Given the description of an element on the screen output the (x, y) to click on. 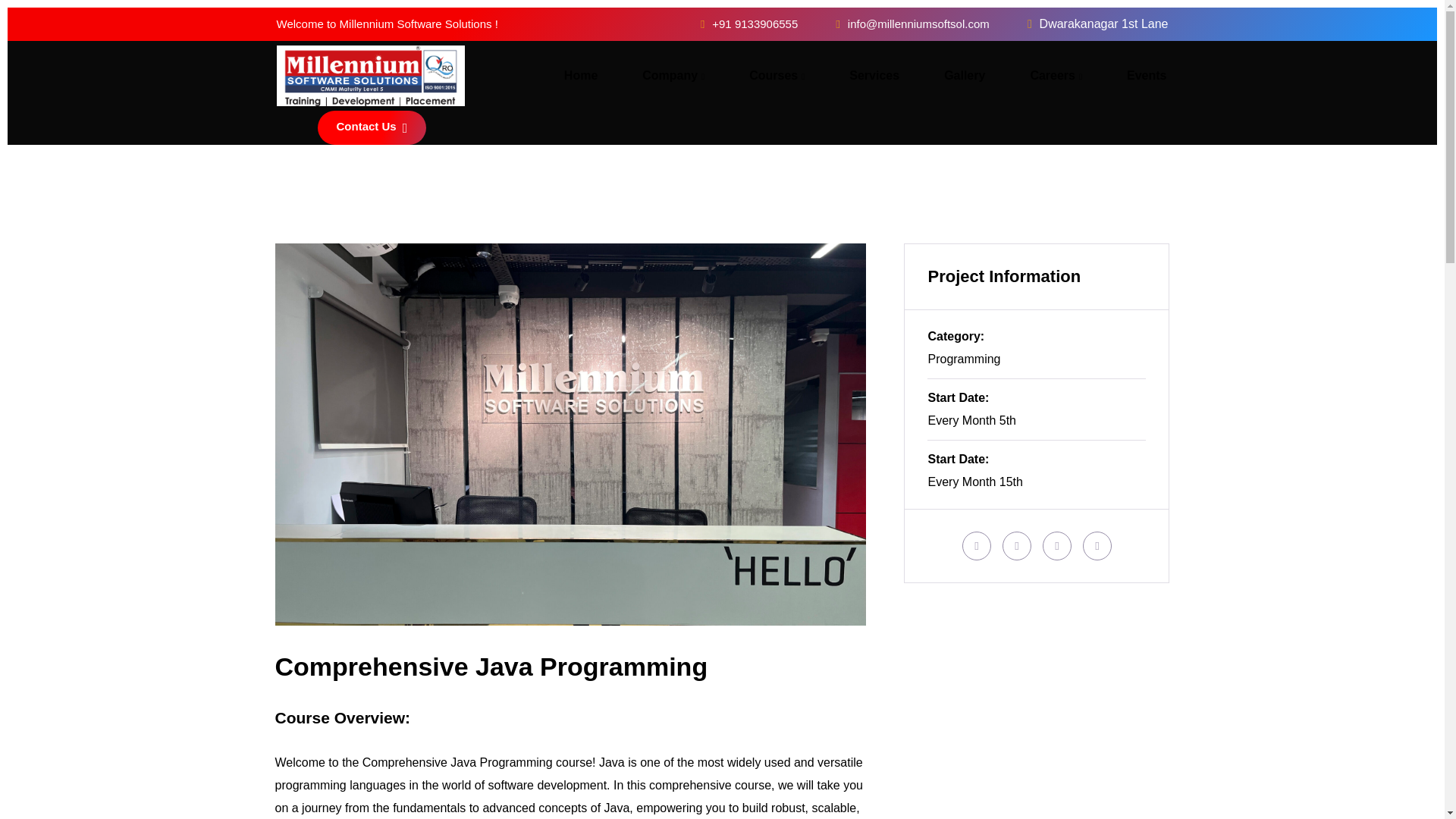
Courses (777, 75)
Dwarakanagar 1st Lane (1098, 23)
Company (673, 75)
Home (580, 75)
